Given the description of an element on the screen output the (x, y) to click on. 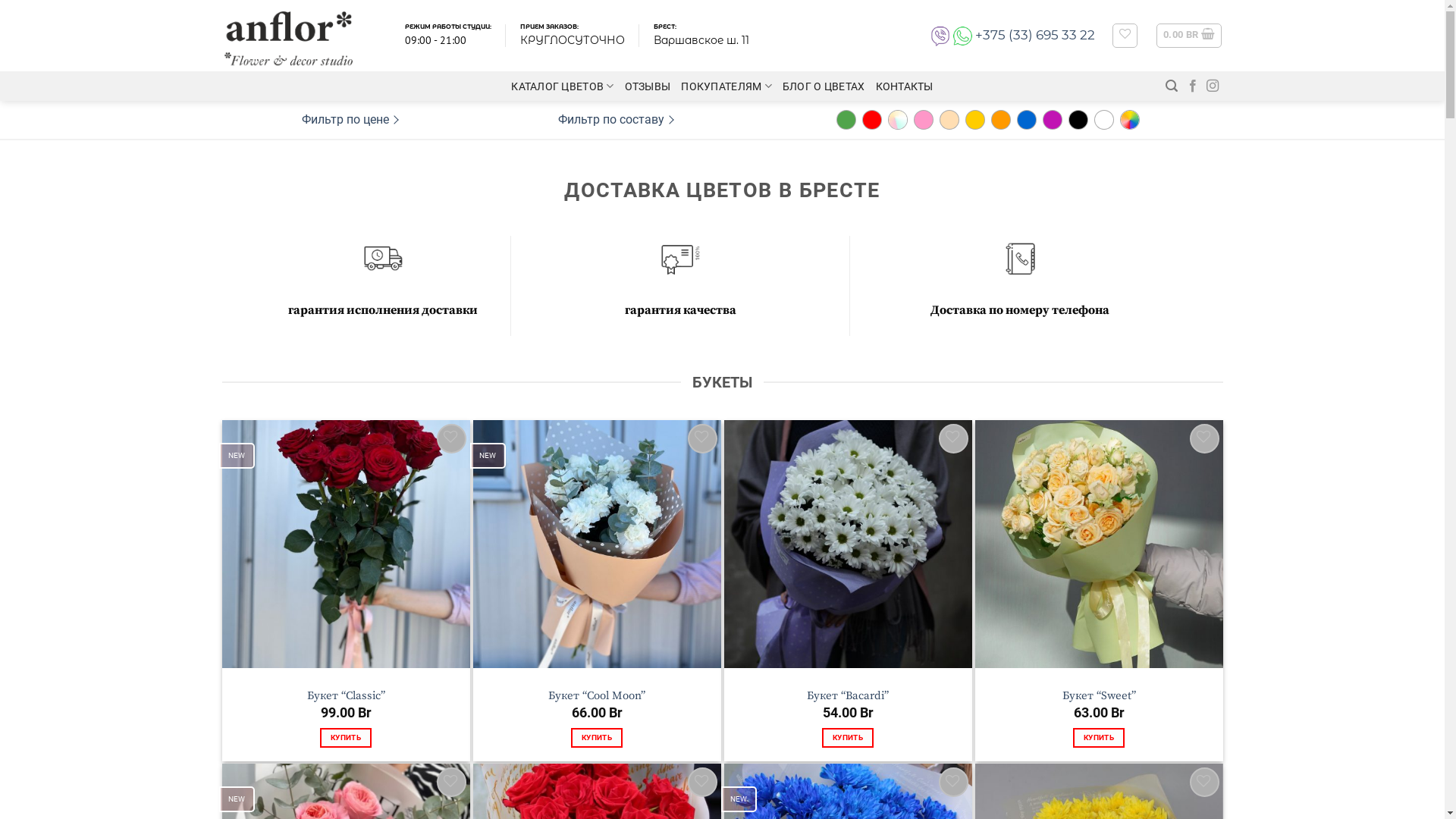
+375 (33) 695 33 22 Element type: text (1035, 34)
0.00 BR Element type: text (1188, 35)
